Given the description of an element on the screen output the (x, y) to click on. 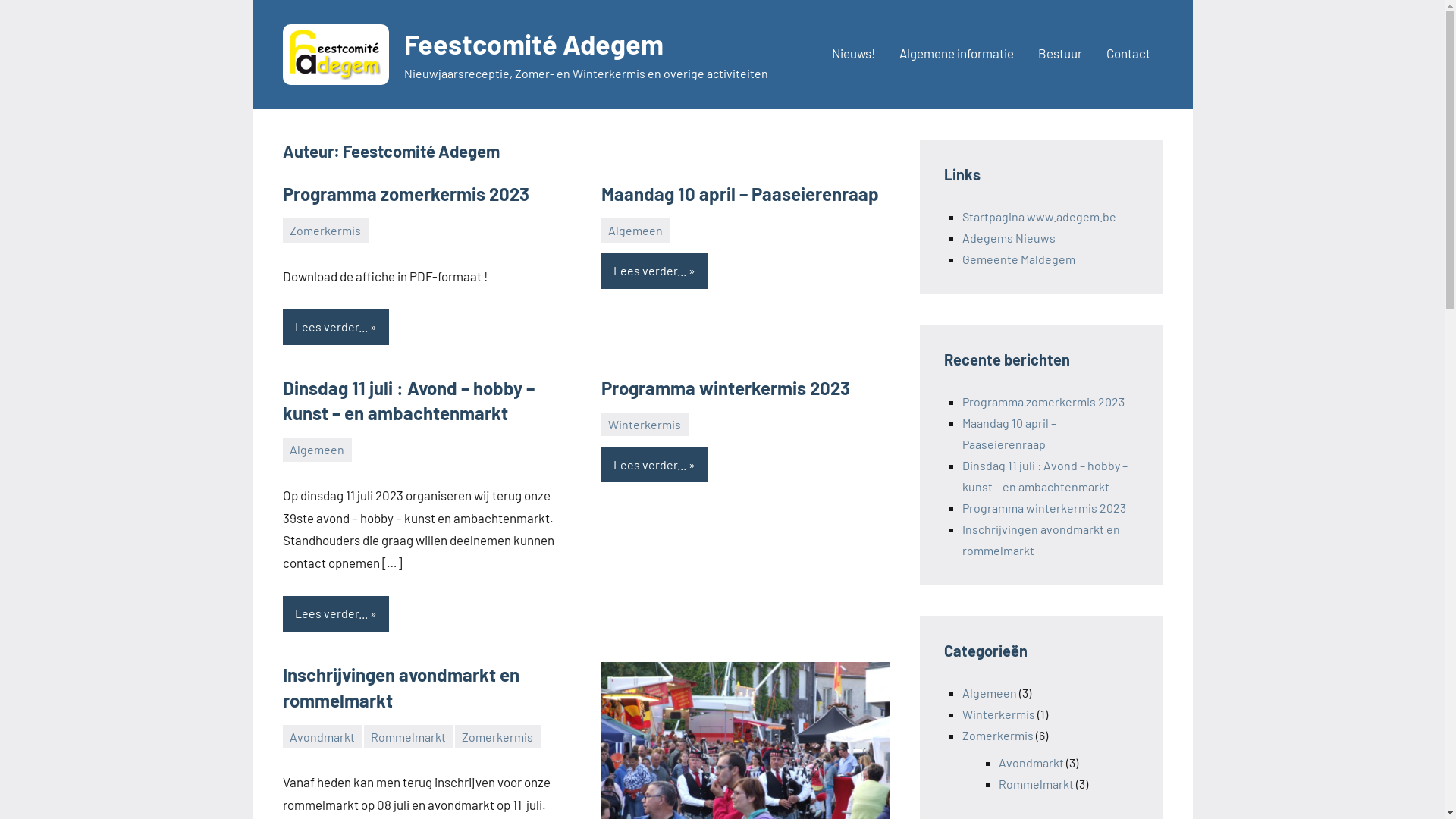
Lees verder... Element type: text (653, 270)
Programma zomerkermis 2023 Element type: text (405, 193)
Contact Element type: text (1127, 54)
Zomerkermis Element type: text (324, 229)
Programma zomerkermis 2023 Element type: text (1042, 401)
Avondmarkt Element type: text (1030, 762)
Zomerkermis Element type: text (497, 736)
Algemene informatie Element type: text (956, 54)
Algemeen Element type: text (634, 229)
Rommelmarkt Element type: text (408, 736)
Rommelmarkt Element type: text (1035, 783)
Bestuur Element type: text (1059, 54)
Adegems Nieuws Element type: text (1007, 237)
Programma winterkermis 2023 Element type: text (1043, 507)
Algemeen Element type: text (988, 692)
Lees verder... Element type: text (335, 326)
Winterkermis Element type: text (997, 713)
Lees verder... Element type: text (335, 613)
Avondmarkt Element type: text (321, 736)
Lees verder... Element type: text (653, 464)
Programma winterkermis 2023 Element type: text (724, 387)
Inschrijvingen avondmarkt en rommelmarkt Element type: text (1040, 539)
Gemeente Maldegem Element type: text (1017, 258)
Algemeen Element type: text (316, 449)
Zomerkermis Element type: text (996, 735)
Winterkermis Element type: text (643, 424)
Inschrijvingen avondmarkt en rommelmarkt Element type: text (400, 687)
Nieuws! Element type: text (852, 54)
Startpagina www.adegem.be Element type: text (1038, 216)
